Given the description of an element on the screen output the (x, y) to click on. 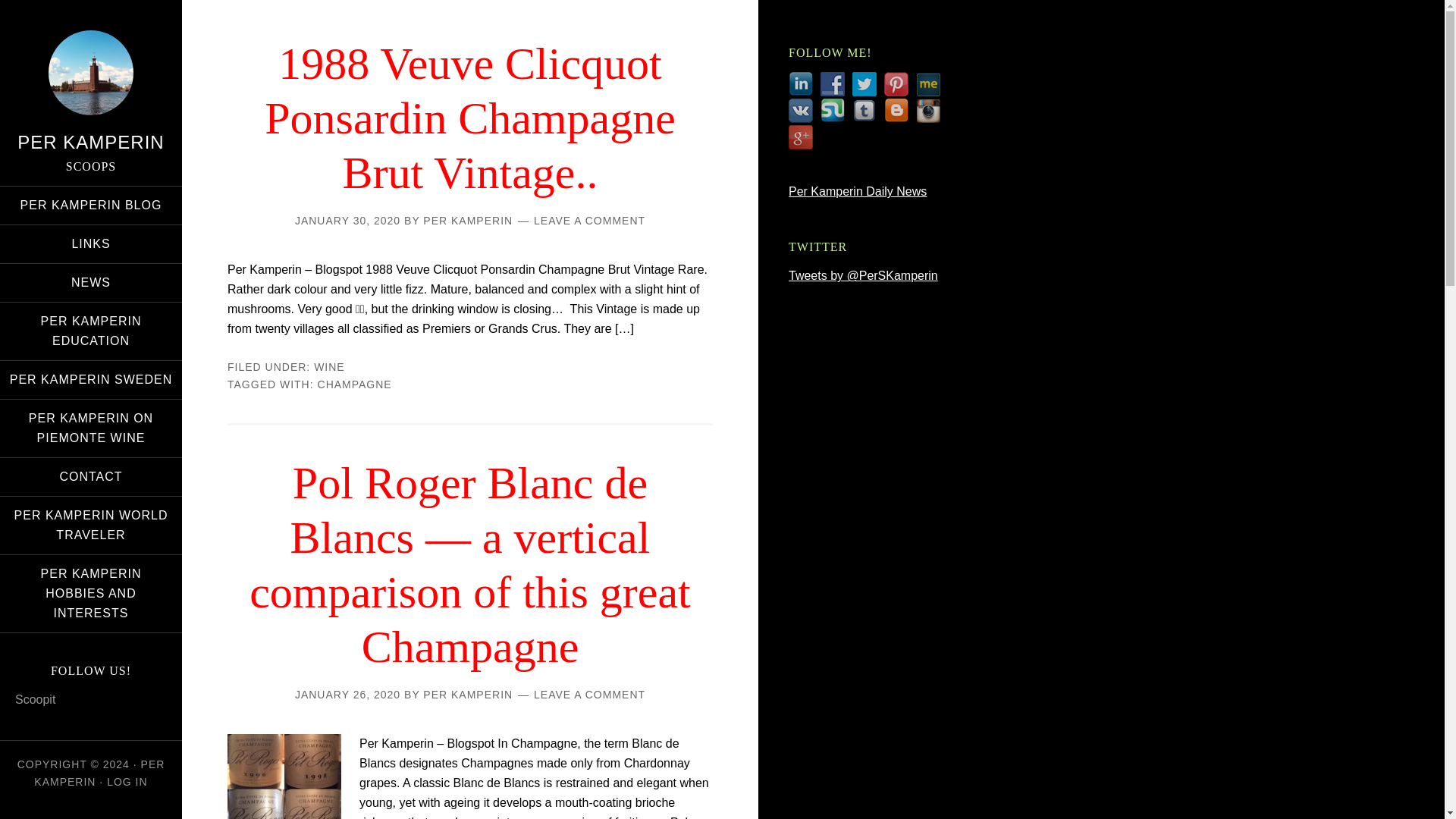
CONTACT (91, 476)
Follow Me On Facebook (832, 84)
WINE (329, 367)
PER KAMPERIN EDUCATION (91, 331)
PER KAMPERIN HOBBIES AND INTERESTS (91, 593)
Follow Me On StumbleUpon (832, 110)
Follow Me On VK (800, 110)
PER KAMPERIN SWEDEN (91, 379)
Follow Me On Instagram (927, 110)
LINKS (91, 243)
LEAVE A COMMENT (589, 694)
Follow Me On Pinterest (895, 84)
1988 Veuve Clicquot Ponsardin Champagne Brut Vintage.. (469, 118)
Follow Me On About.me (927, 84)
LOG IN (126, 781)
